Given the description of an element on the screen output the (x, y) to click on. 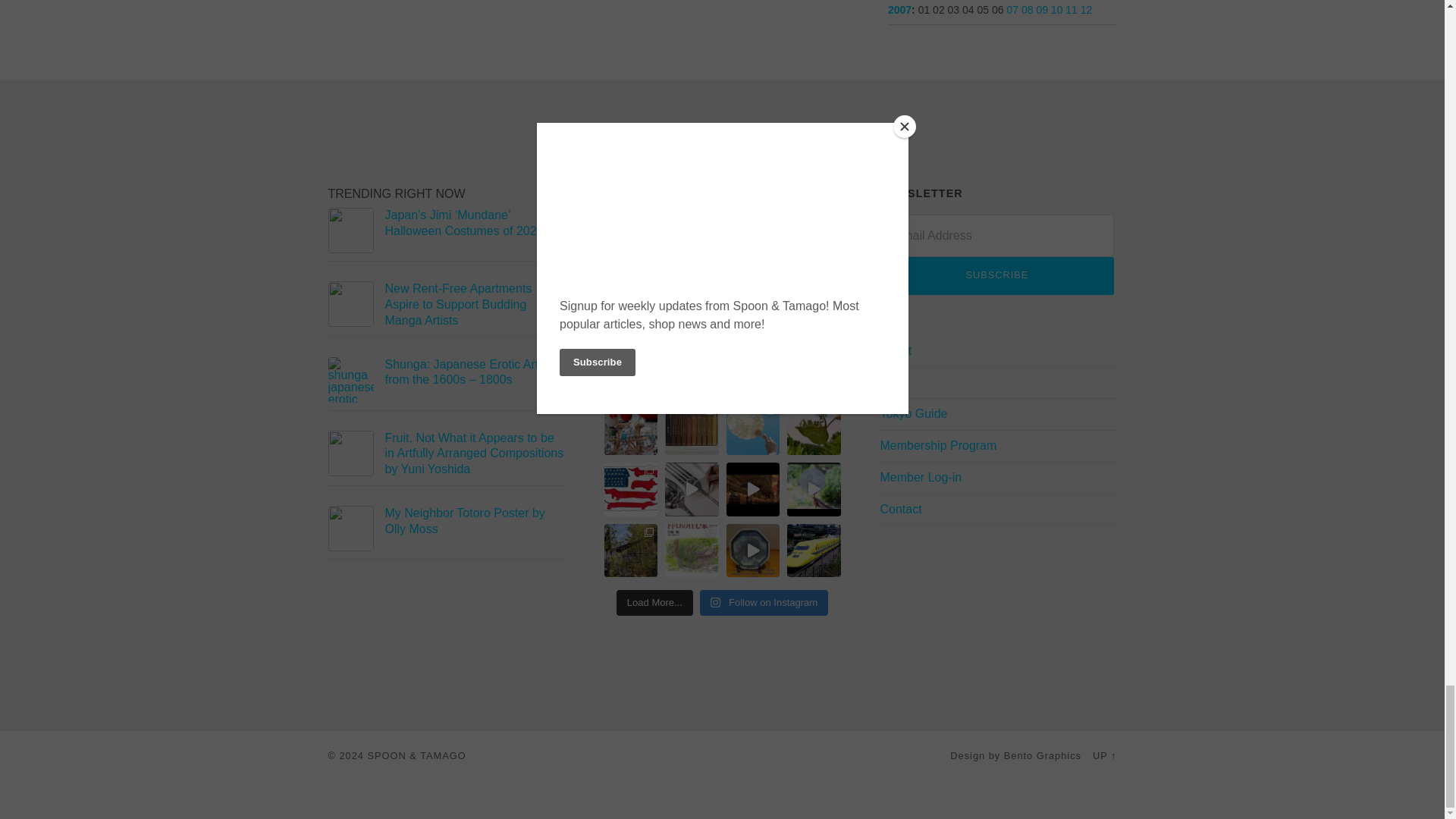
Subscribe (996, 275)
